Given the description of an element on the screen output the (x, y) to click on. 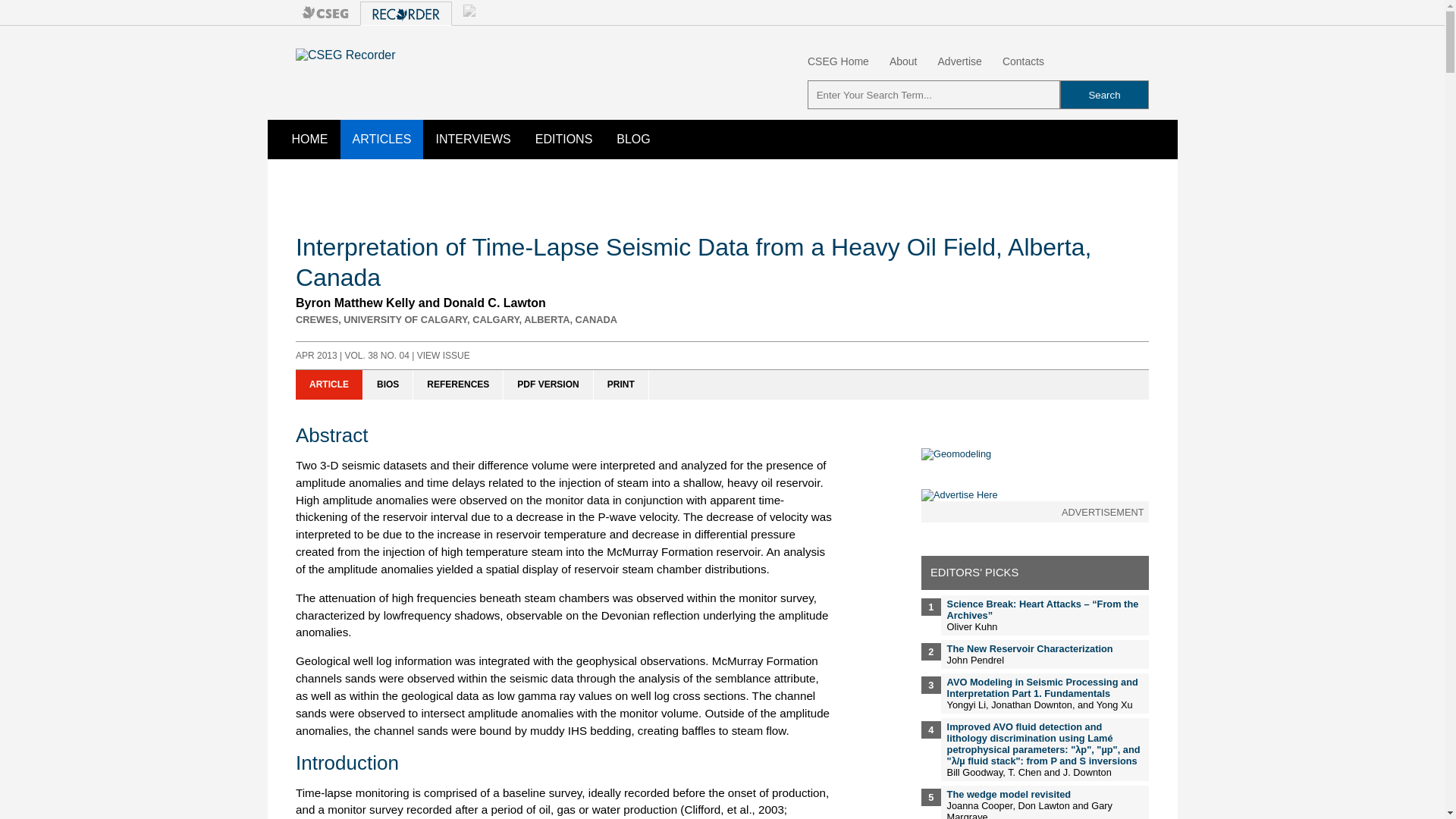
Search (1103, 94)
BIOS (387, 384)
INTERVIEWS (472, 138)
REFERENCES (458, 384)
BLOG (633, 138)
Contacts (1023, 61)
ARTICLE (328, 384)
ARTICLES (381, 138)
PDF VERSION (547, 384)
PRINT (621, 384)
